Given the description of an element on the screen output the (x, y) to click on. 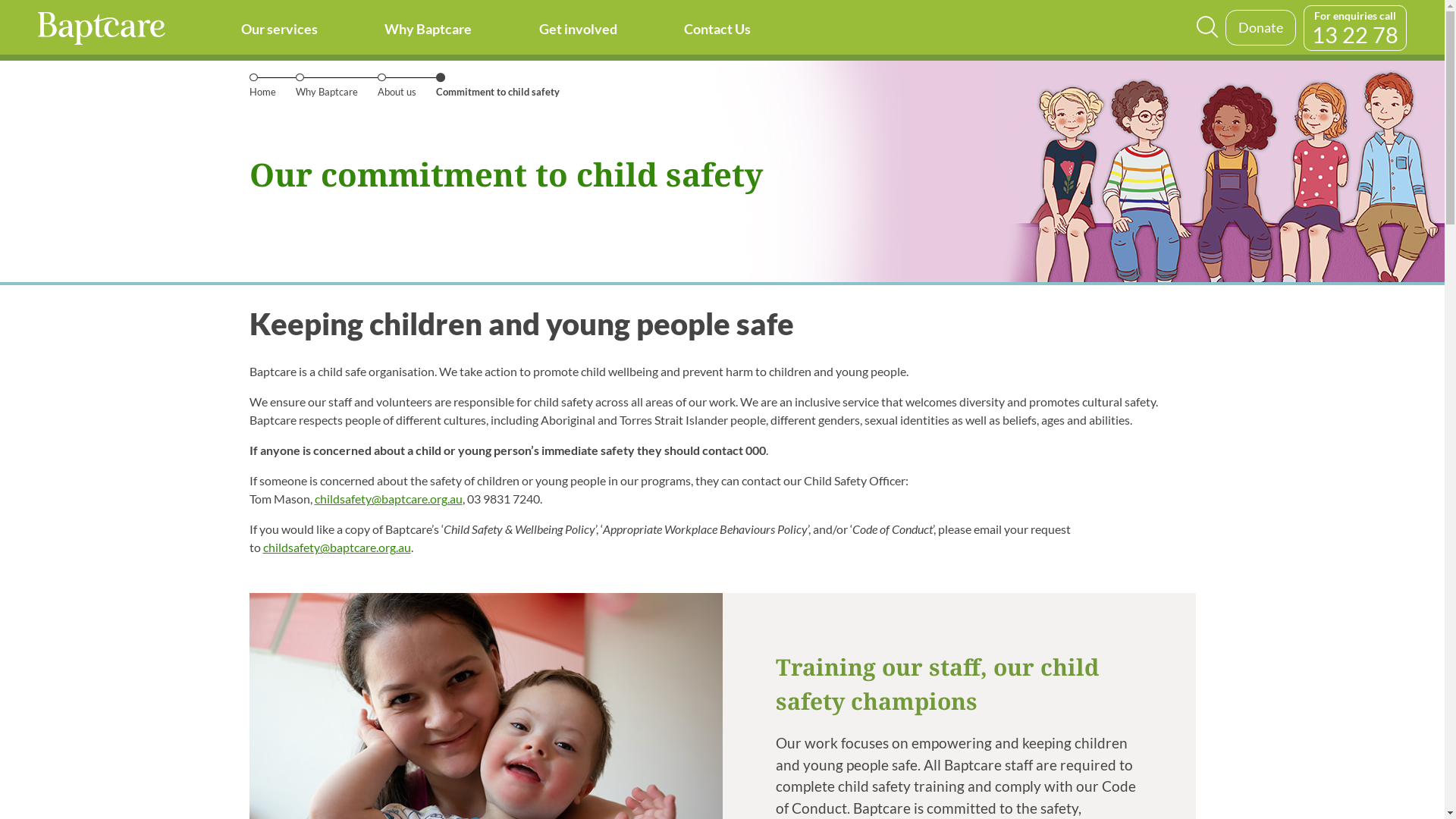
Donate Element type: text (1260, 27)
About us Element type: text (400, 91)
For enquiries call
13 22 78 Element type: text (1354, 27)
Why Baptcare Element type: text (330, 91)
search Element type: text (1206, 27)
Our services Element type: text (279, 33)
childsafety@baptcare.org.au Element type: text (336, 546)
Get involved Element type: text (578, 33)
Contact Us Element type: text (717, 33)
Home Element type: text (265, 91)
childsafety@baptcare.org.au Element type: text (387, 498)
Baptcare Element type: text (101, 30)
Why Baptcare Element type: text (427, 33)
